Given the description of an element on the screen output the (x, y) to click on. 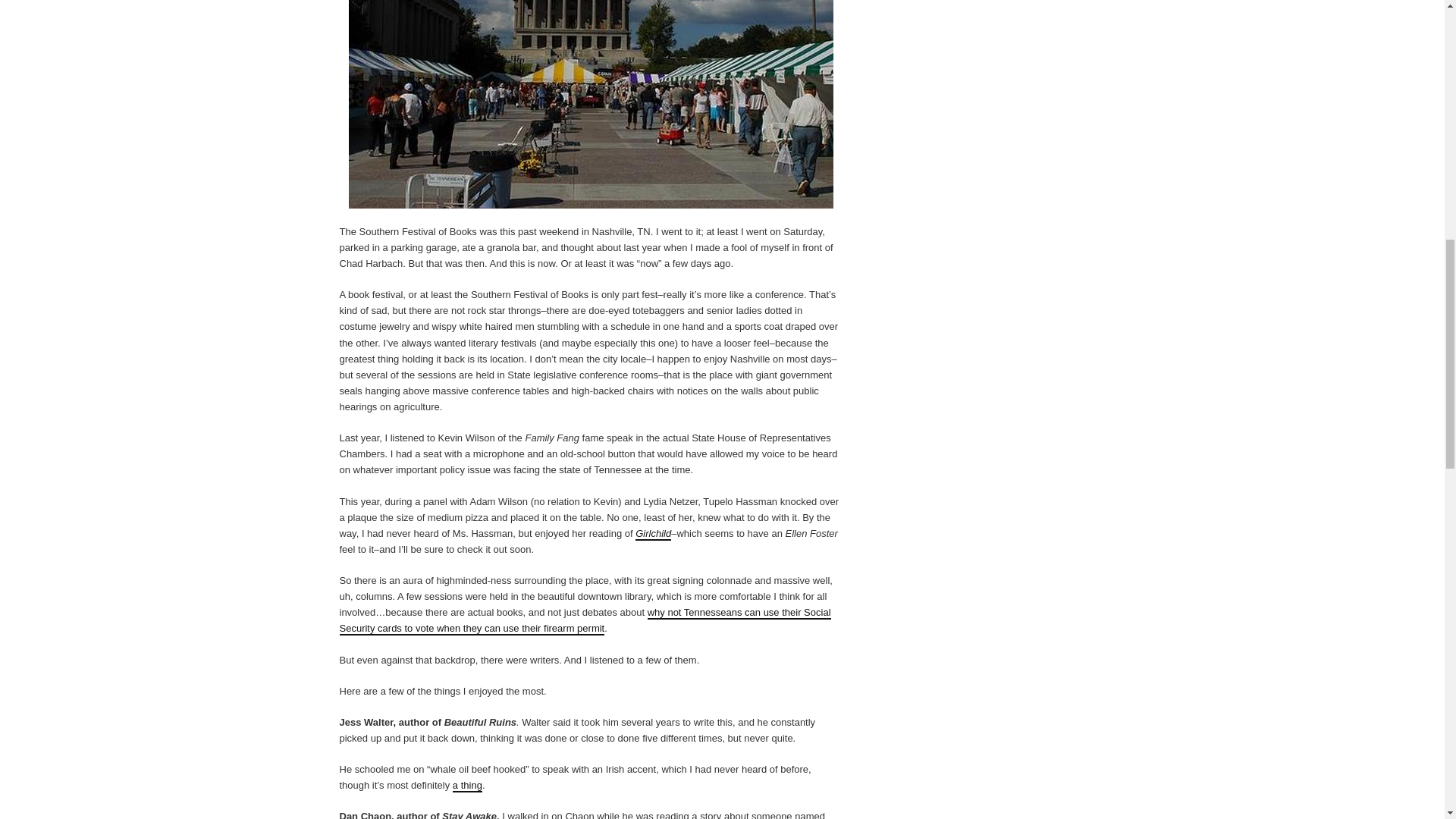
a thing (466, 785)
southern festival of books (590, 104)
Girlchild (652, 533)
